Given the description of an element on the screen output the (x, y) to click on. 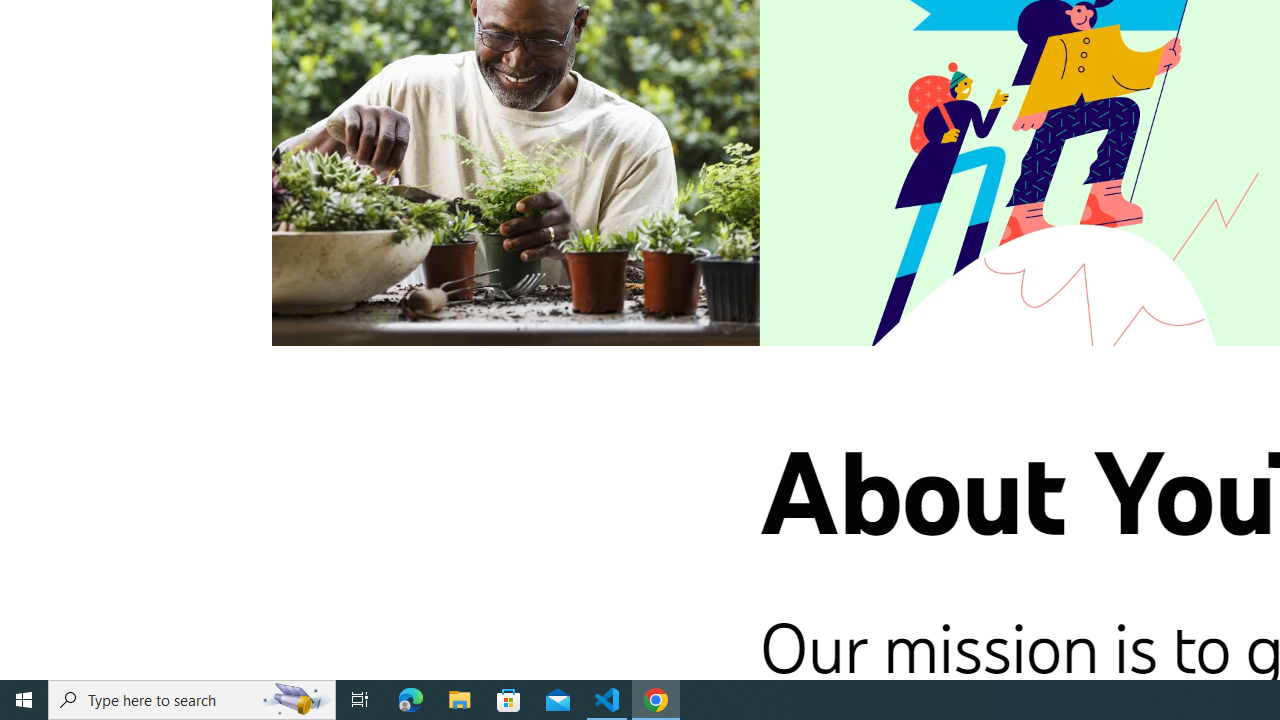
Google Chrome - 1 running window (656, 699)
Type here to search (191, 699)
Search highlights icon opens search home window (295, 699)
Start (24, 699)
Microsoft Store (509, 699)
Visual Studio Code - 1 running window (607, 699)
Microsoft Edge (411, 699)
Task View (359, 699)
File Explorer (460, 699)
